Given the description of an element on the screen output the (x, y) to click on. 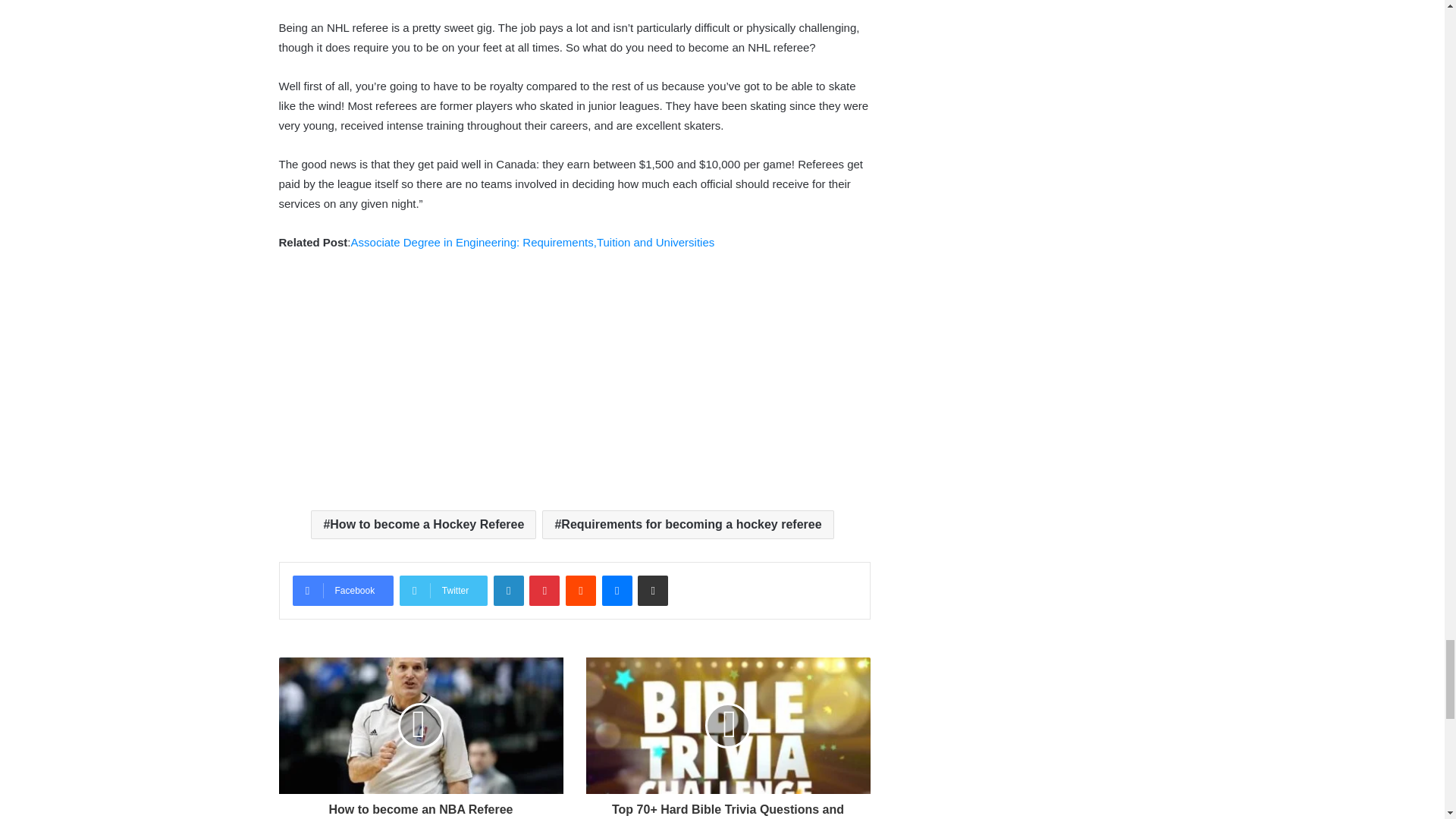
Requirements for becoming a hockey referee (686, 524)
How to become a Hockey Referee (423, 524)
